Given the description of an element on the screen output the (x, y) to click on. 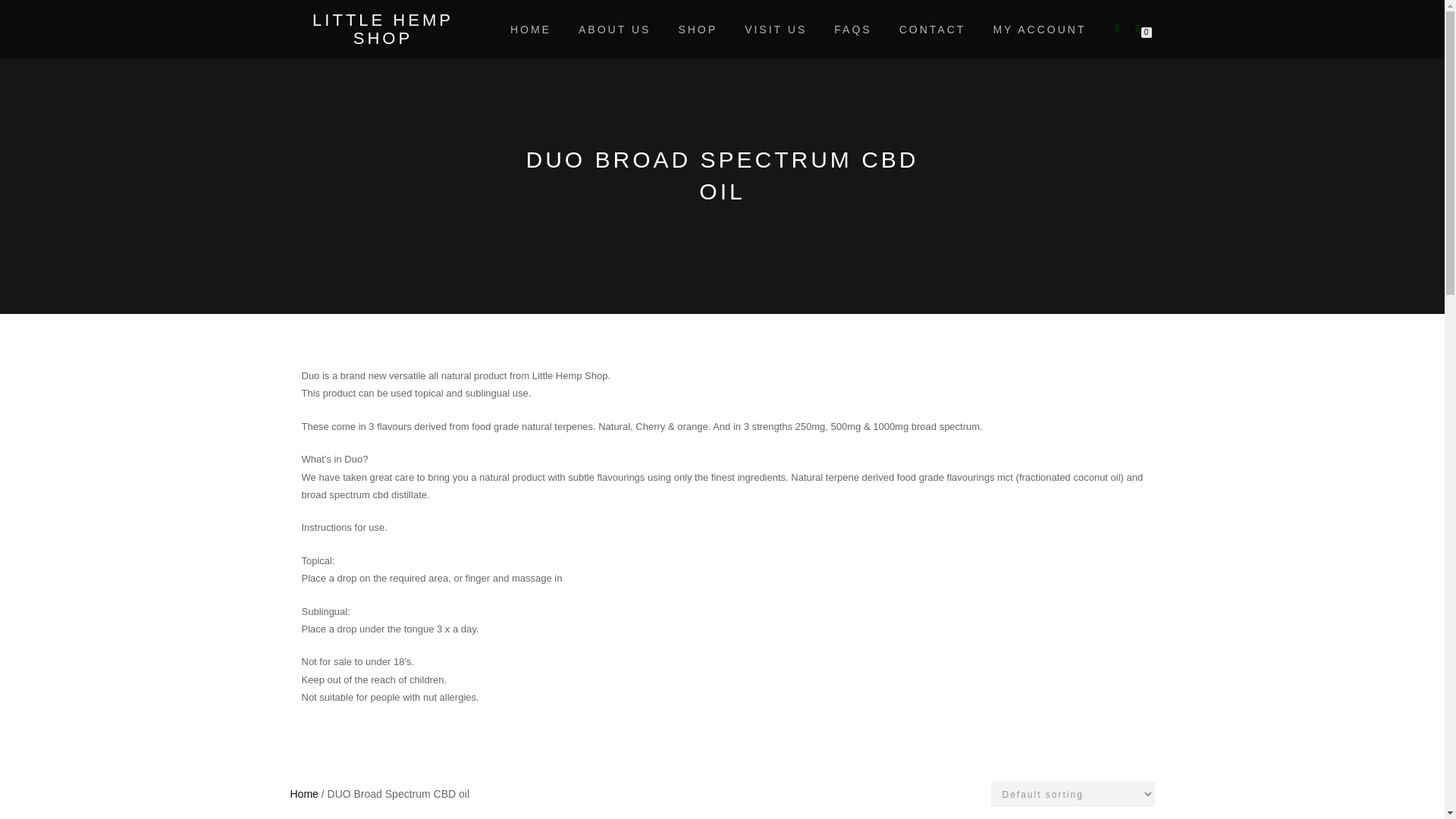
HOME (530, 29)
FAQS (852, 29)
View your shopping basket (1139, 26)
VISIT US (775, 29)
LITTLE HEMP SHOP (382, 29)
Home (303, 793)
Little Hemp Shop (382, 29)
SHOP (697, 29)
ABOUT US (614, 29)
CONTACT (932, 29)
